Given the description of an element on the screen output the (x, y) to click on. 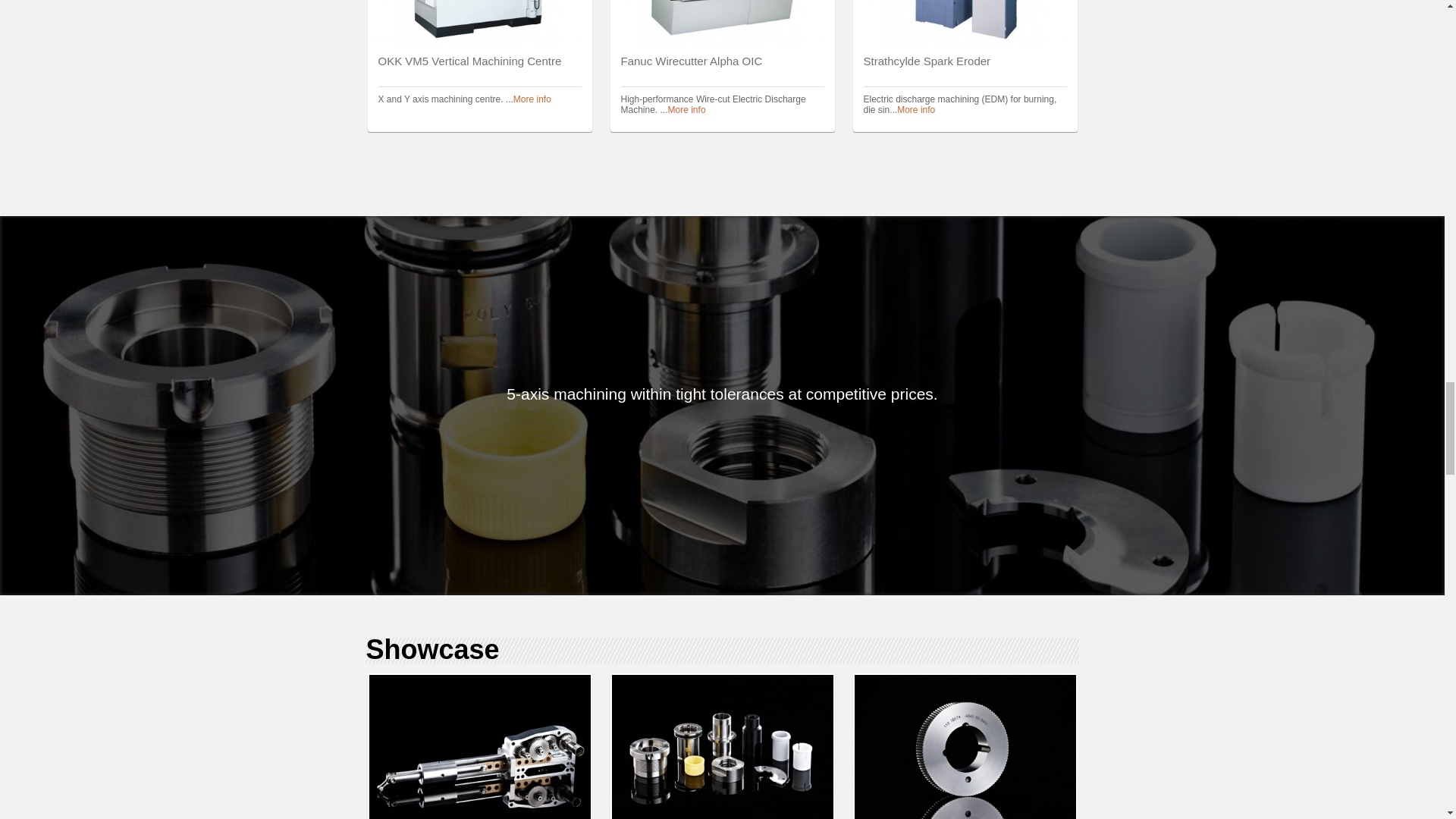
More info (687, 109)
More info (532, 99)
More info (915, 109)
